Given the description of an element on the screen output the (x, y) to click on. 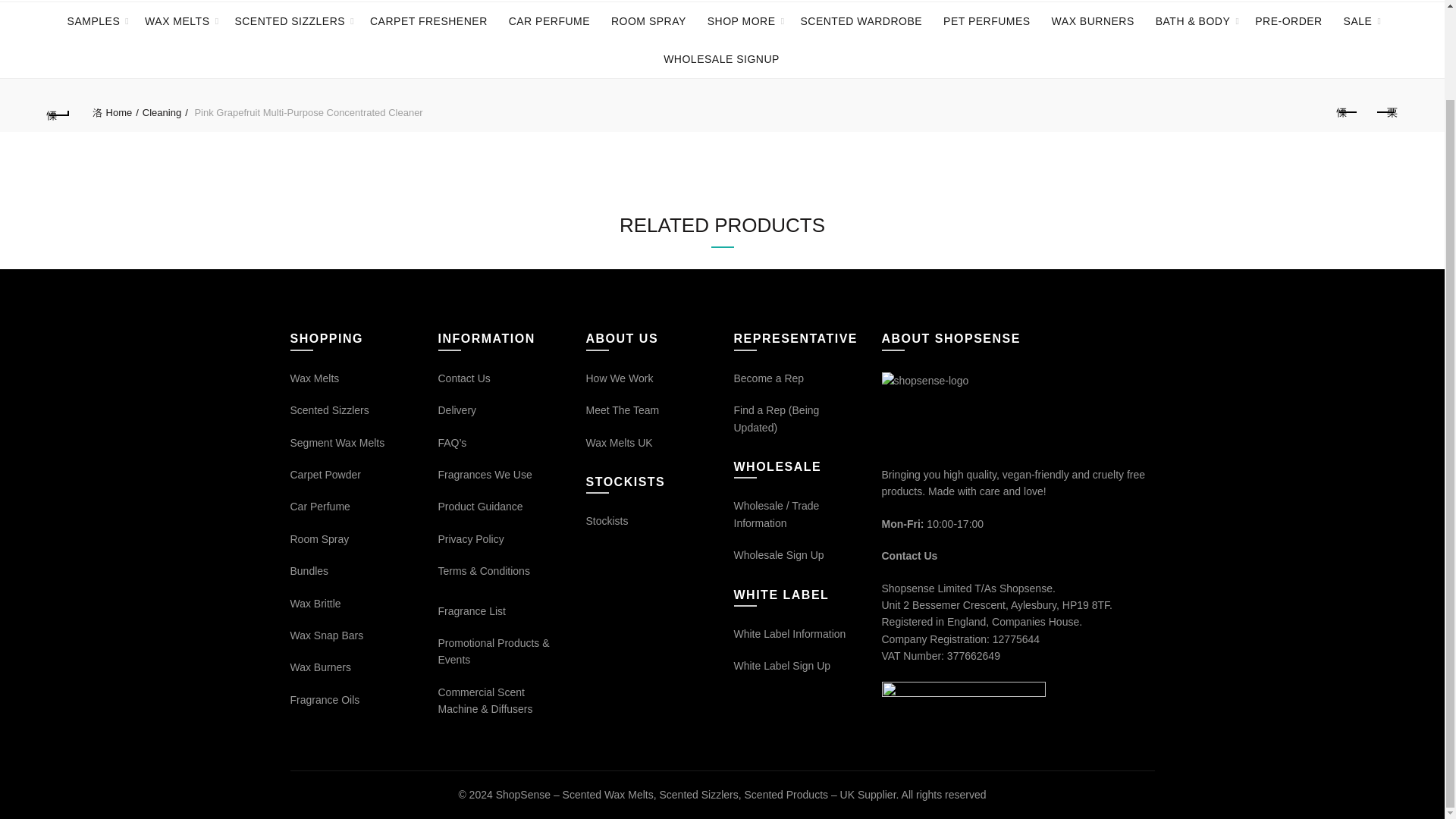
Qty (775, 512)
1 (775, 512)
